Given the description of an element on the screen output the (x, y) to click on. 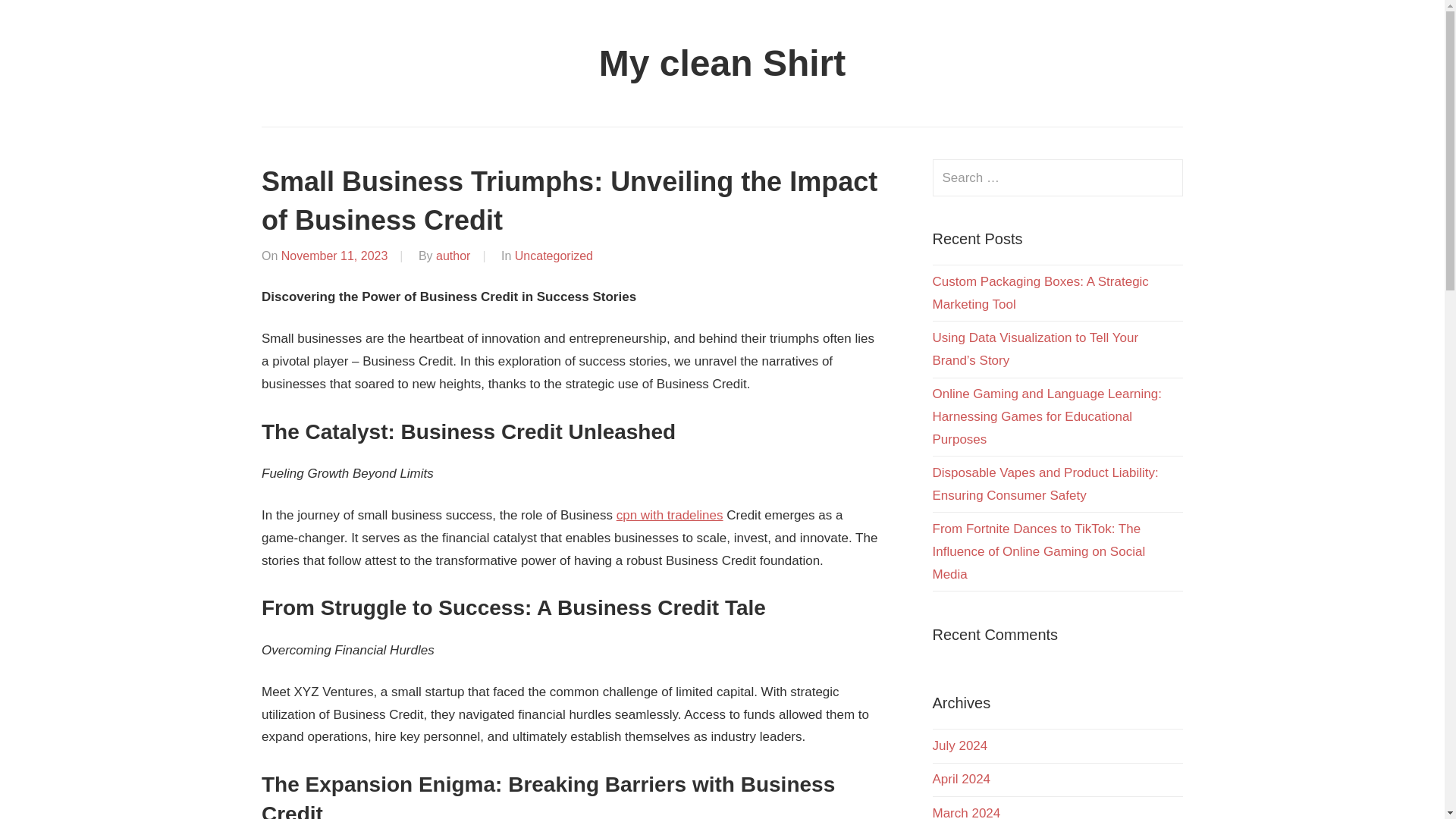
author (452, 255)
Search for: (1058, 177)
November 11, 2023 (334, 255)
July 2024 (960, 745)
cpn with tradelines (669, 514)
March 2024 (967, 812)
Custom Packaging Boxes: A Strategic Marketing Tool (1040, 293)
April 2024 (962, 779)
Uncategorized (553, 255)
View all posts by author (452, 255)
My clean Shirt (721, 63)
7:40 am (334, 255)
